Given the description of an element on the screen output the (x, y) to click on. 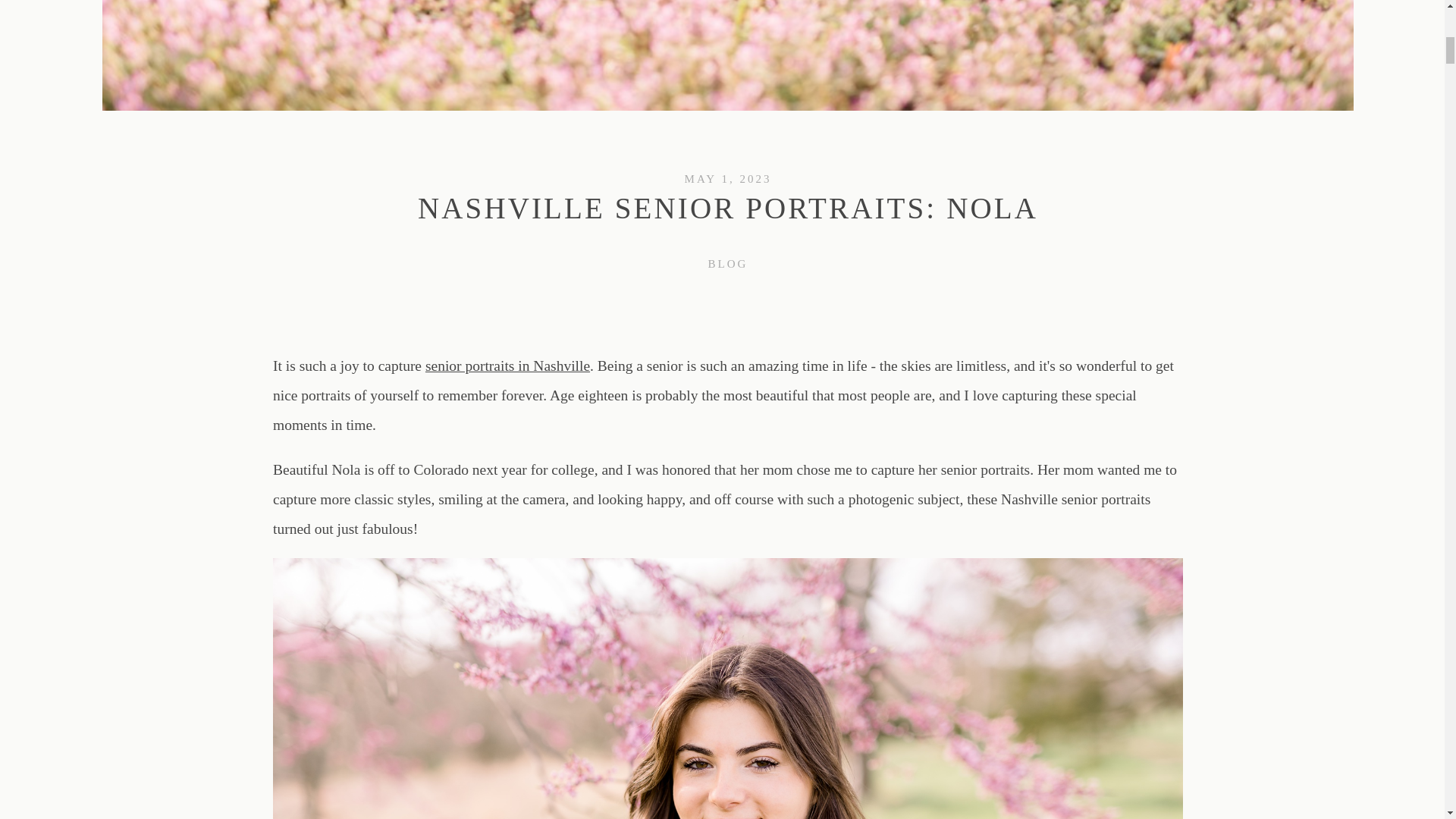
senior portraits in Nashville (507, 365)
BLOG (727, 263)
